Given the description of an element on the screen output the (x, y) to click on. 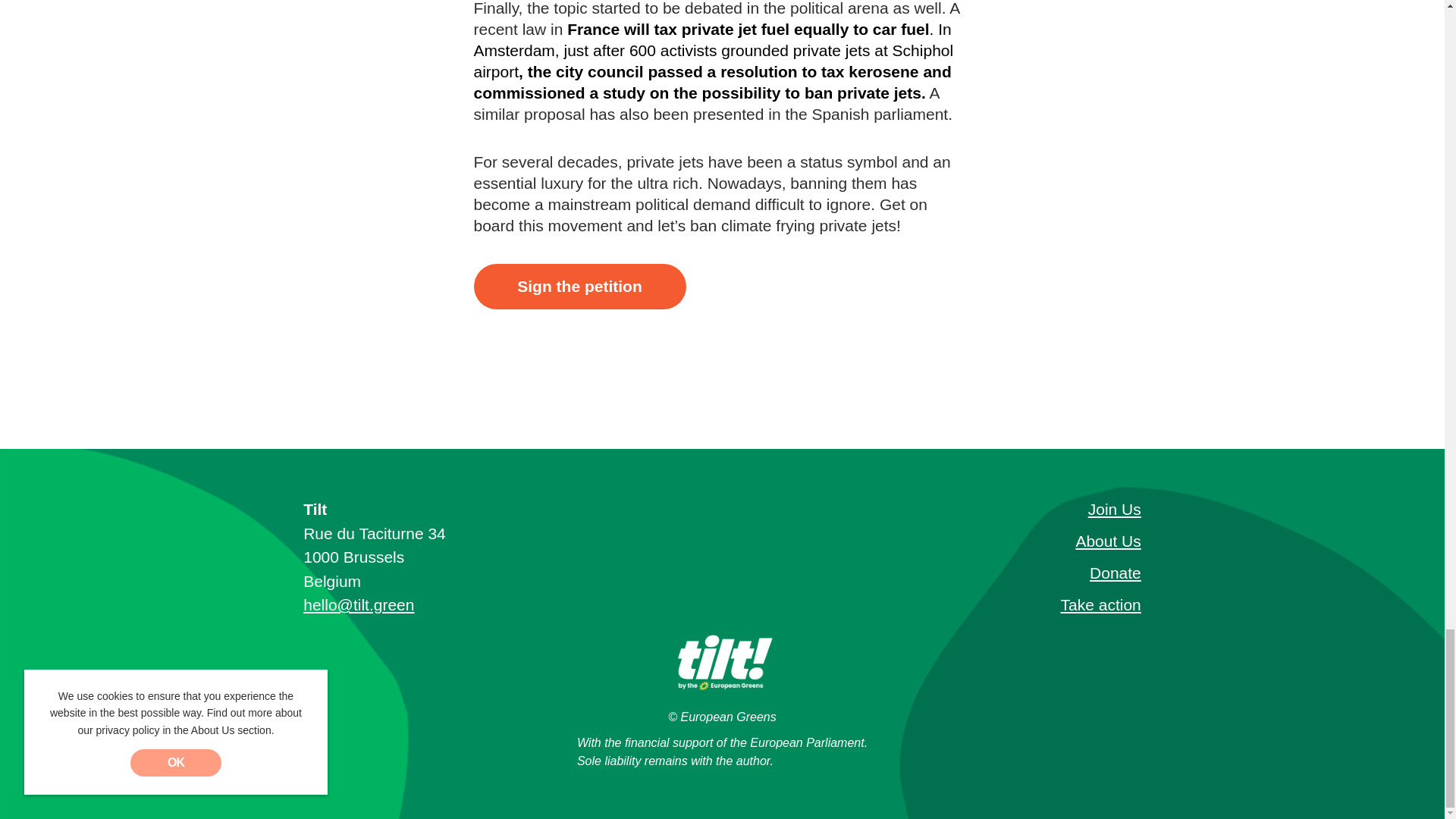
Sign the petition (579, 286)
Take action (994, 604)
Donate (994, 573)
Join Us (994, 509)
About Us (994, 541)
